Given the description of an element on the screen output the (x, y) to click on. 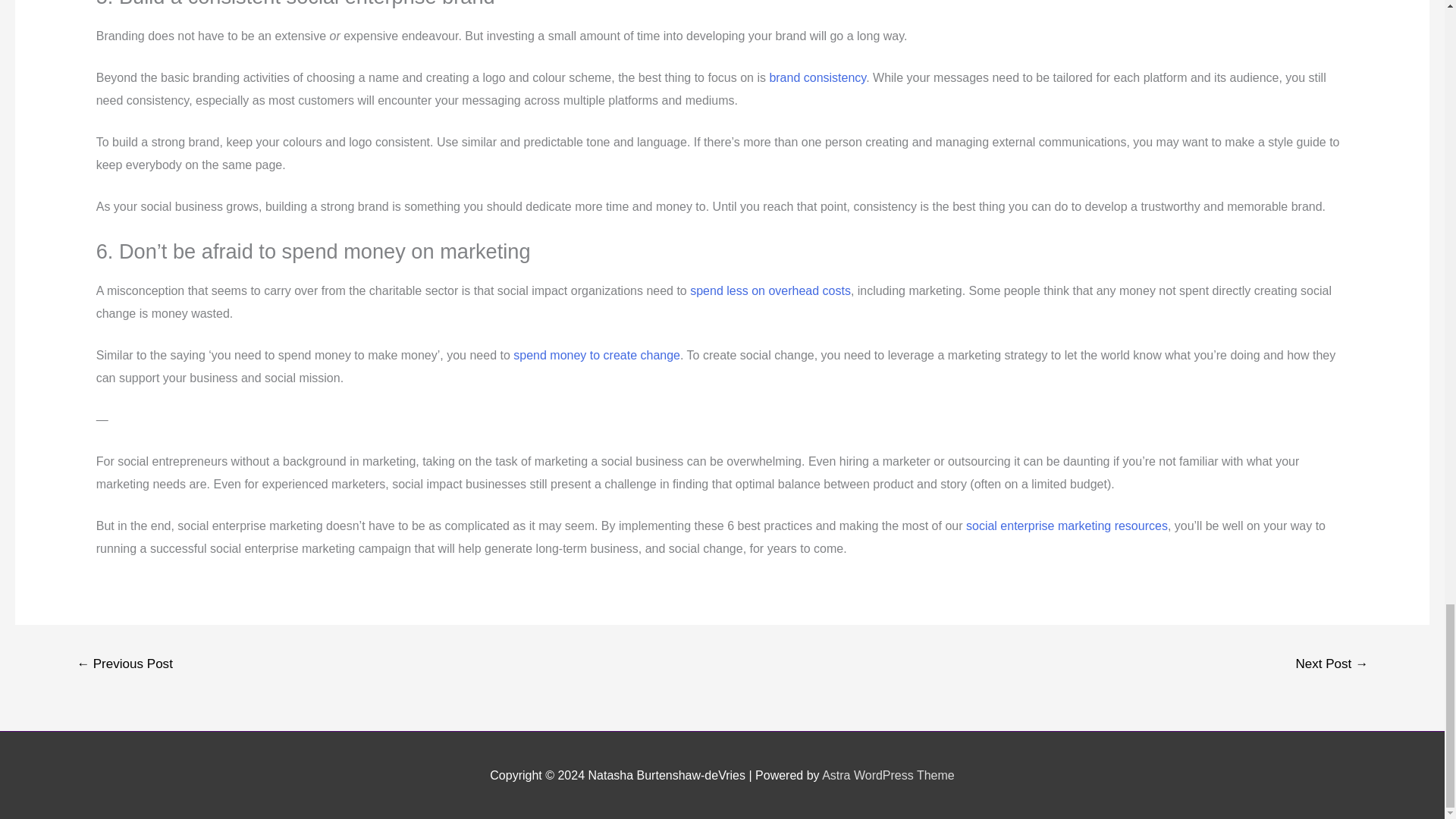
brand consistency (817, 77)
spend less on overhead costs (770, 290)
social enterprise marketing resources (1066, 525)
Astra WordPress Theme (888, 775)
spend money to create change (596, 354)
